Given the description of an element on the screen output the (x, y) to click on. 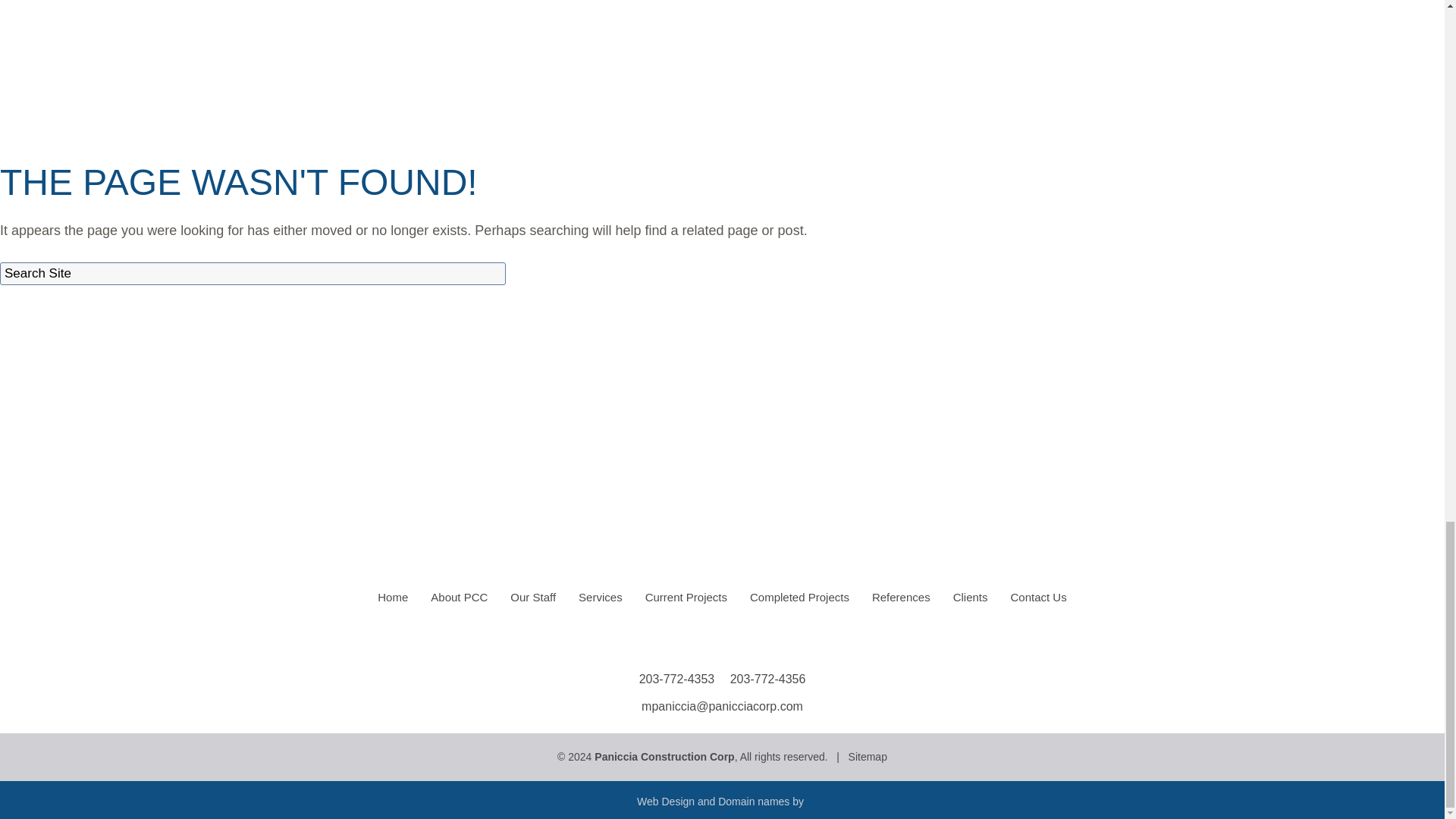
Completed Projects (799, 597)
Contact Us (1038, 597)
Clients (970, 597)
Sitemap (867, 756)
References (901, 597)
203-772-4356 (768, 678)
Current Projects (685, 597)
About PCC (459, 597)
Our Staff (533, 597)
203-772-4353 (676, 678)
Services (600, 597)
Home (392, 597)
